Given the description of an element on the screen output the (x, y) to click on. 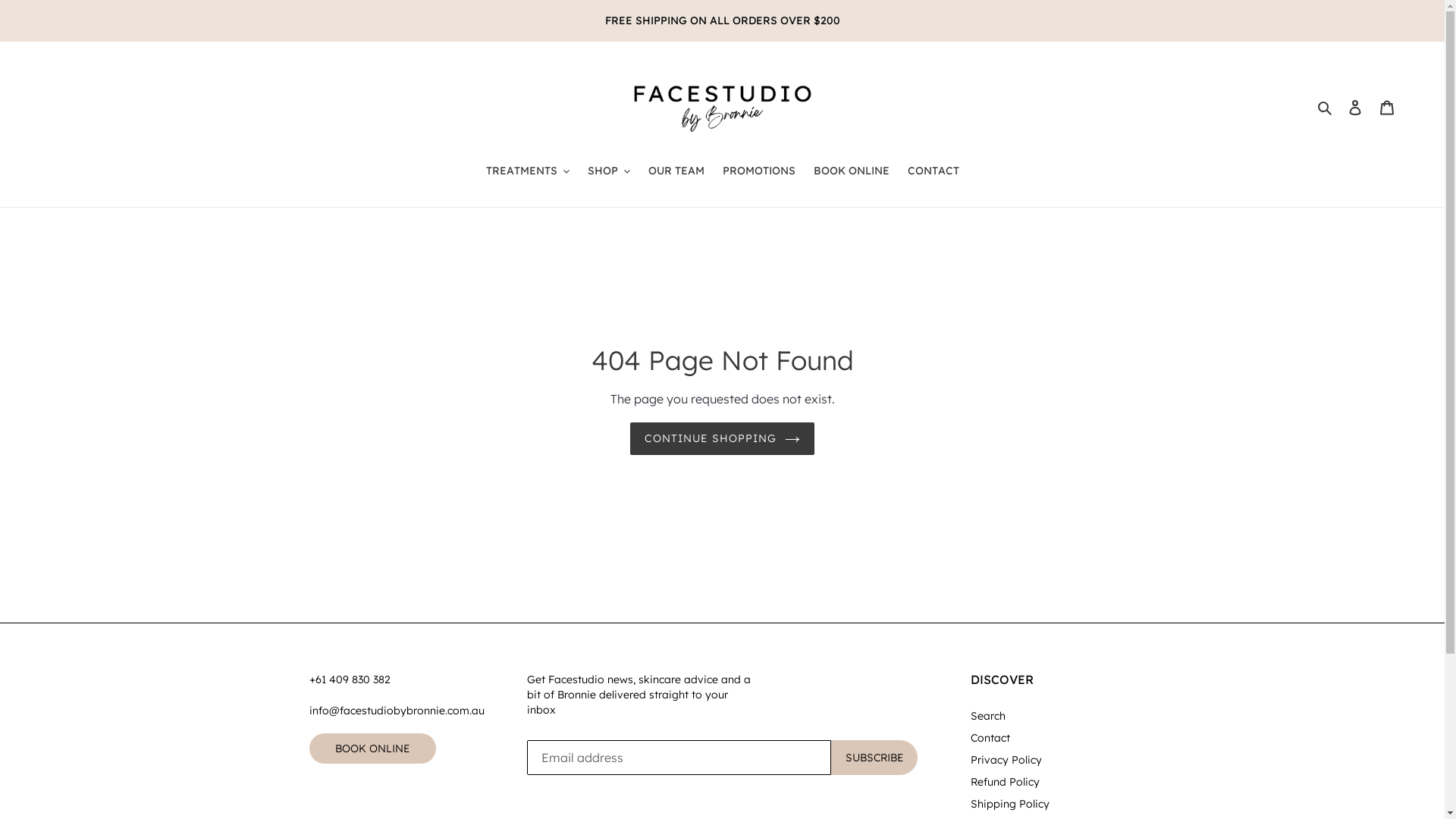
BOOK ONLINE Element type: text (850, 170)
Contact Element type: text (990, 737)
Refund Policy Element type: text (1004, 781)
Cart Element type: text (1386, 105)
SHOP Element type: text (608, 170)
Privacy Policy Element type: text (1005, 759)
TREATMENTS Element type: text (526, 170)
PROMOTIONS Element type: text (758, 170)
SUBSCRIBE Element type: text (874, 757)
OUR TEAM Element type: text (675, 170)
Log in Element type: text (1355, 105)
Shipping Policy Element type: text (1009, 803)
CONTACT Element type: text (932, 170)
CONTINUE SHOPPING Element type: text (721, 438)
Search Element type: text (1325, 106)
BOOK ONLINE Element type: text (372, 748)
Search Element type: text (987, 715)
